Given the description of an element on the screen output the (x, y) to click on. 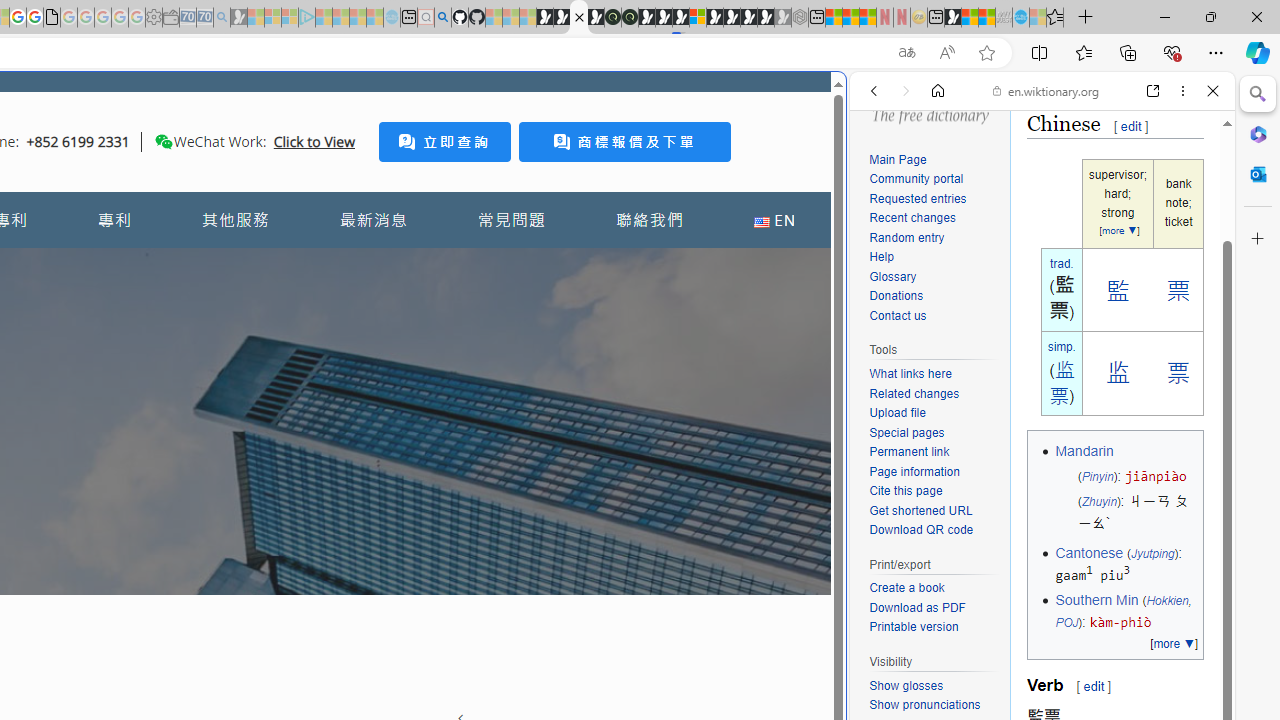
Cite this page (906, 490)
Cite this page (934, 491)
Recent changes (934, 218)
Printable version (913, 627)
